Given the description of an element on the screen output the (x, y) to click on. 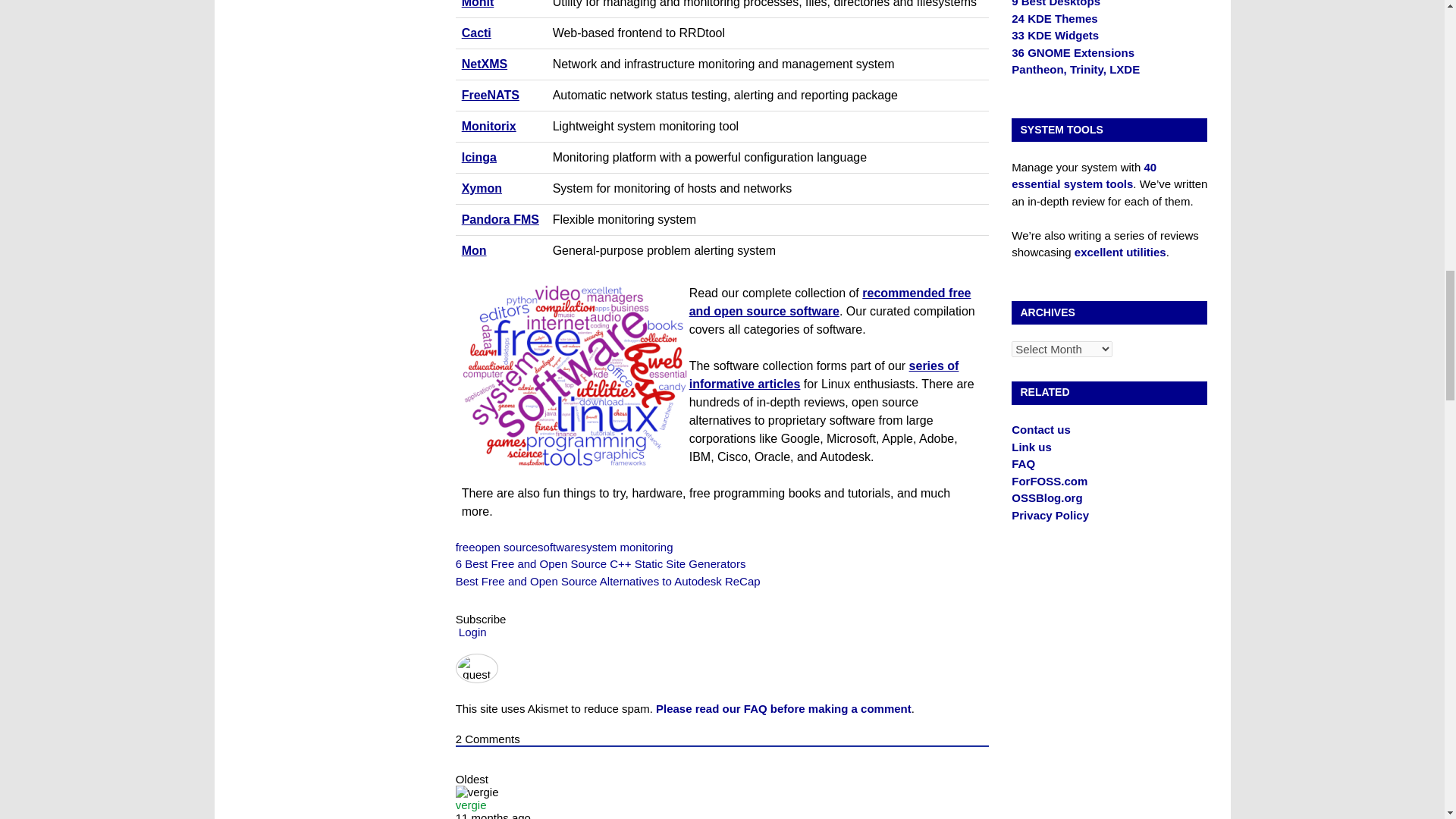
series of informative articles (823, 374)
Monitorix (488, 125)
NetXMS (483, 63)
system monitoring (626, 546)
Icinga (478, 156)
recommended free and open source software (829, 301)
free (465, 546)
Cacti (476, 32)
Monit (478, 4)
